Given the description of an element on the screen output the (x, y) to click on. 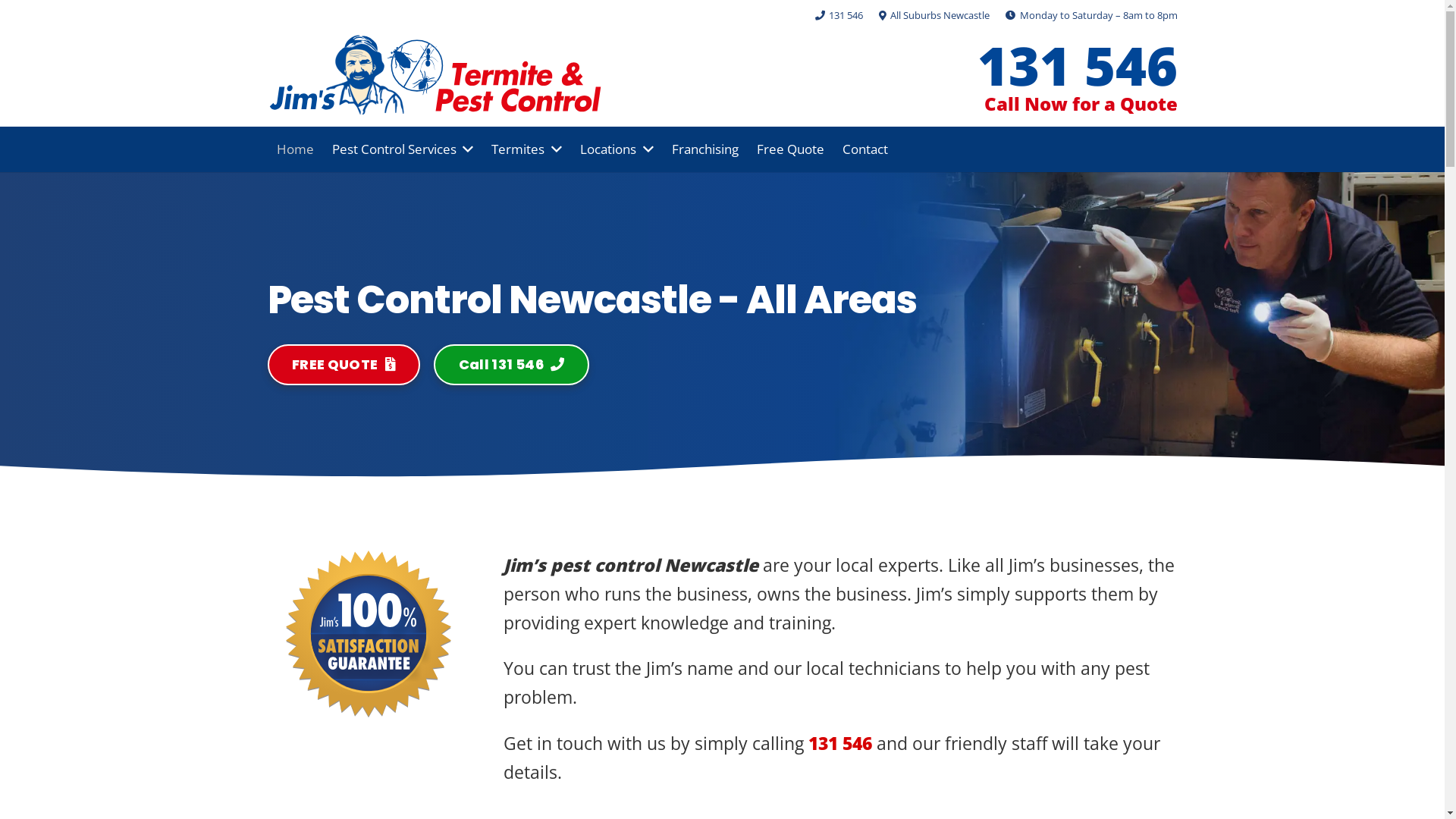
131 546 Element type: text (840, 743)
Pest Control Newcastle - All Areas Element type: text (721, 300)
FREE QUOTE Element type: text (343, 364)
131 546 Element type: text (1077, 64)
Franchising Element type: text (704, 149)
Locations Element type: text (616, 149)
Home Element type: text (294, 149)
Contact Element type: text (865, 149)
Termites Element type: text (526, 149)
Free Quote Element type: text (790, 149)
Pest Control Services Element type: text (403, 149)
Call 131 546 Element type: text (510, 364)
